Given the description of an element on the screen output the (x, y) to click on. 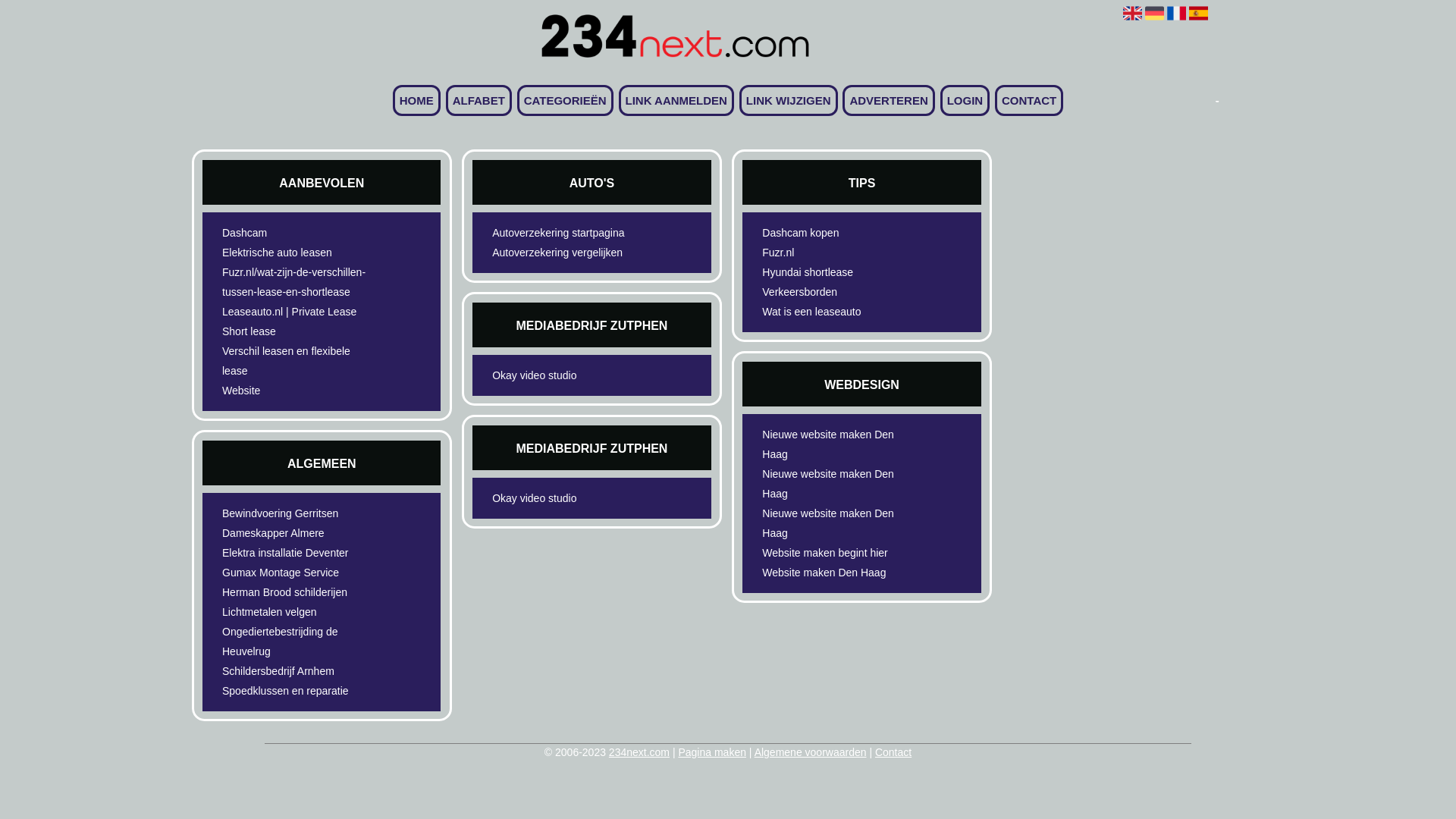
Fuzr.nl/wat-zijn-de-verschillen-tussen-lease-en-shortlease Element type: text (295, 281)
Nieuwe website maken Den Haag Element type: text (835, 522)
Autoverzekering vergelijken Element type: text (565, 252)
Verschil leasen en flexibele lease Element type: text (295, 360)
Fuzr.nl Element type: text (835, 252)
Contact Element type: text (893, 752)
LINK WIJZIGEN Element type: text (788, 100)
234next.com Element type: text (638, 752)
Website maken Den Haag Element type: text (835, 572)
ALFABET Element type: text (478, 100)
HOME Element type: text (416, 100)
Dashcam Element type: text (295, 232)
Website Element type: text (295, 390)
Okay video studio Element type: text (565, 498)
CONTACT Element type: text (1028, 100)
Dameskapper Almere Element type: text (295, 532)
Leaseauto.nl | Private Lease Element type: text (295, 311)
Ongediertebestrijding de Heuvelrug Element type: text (295, 641)
Bewindvoering Gerritsen Element type: text (295, 513)
Pagina maken Element type: text (711, 752)
Elektra installatie Deventer Element type: text (295, 552)
Elektrische auto leasen Element type: text (295, 252)
Algemene voorwaarden Element type: text (810, 752)
Website maken begint hier Element type: text (835, 552)
Dashcam kopen Element type: text (835, 232)
Hyundai shortlease Element type: text (835, 272)
Lichtmetalen velgen Element type: text (295, 611)
Nieuwe website maken Den Haag Element type: text (835, 444)
Short lease Element type: text (295, 331)
Nieuwe website maken Den Haag Element type: text (835, 483)
Spoedklussen en reparatie Element type: text (295, 690)
Okay video studio Element type: text (565, 375)
ADVERTEREN Element type: text (888, 100)
LINK AANMELDEN Element type: text (676, 100)
Verkeersborden Element type: text (835, 291)
Herman Brood schilderijen Element type: text (295, 592)
Gumax Montage Service Element type: text (295, 572)
Autoverzekering startpagina Element type: text (565, 232)
Schildersbedrijf Arnhem Element type: text (295, 670)
LOGIN Element type: text (965, 100)
Wat is een leaseauto Element type: text (835, 311)
